Given the description of an element on the screen output the (x, y) to click on. 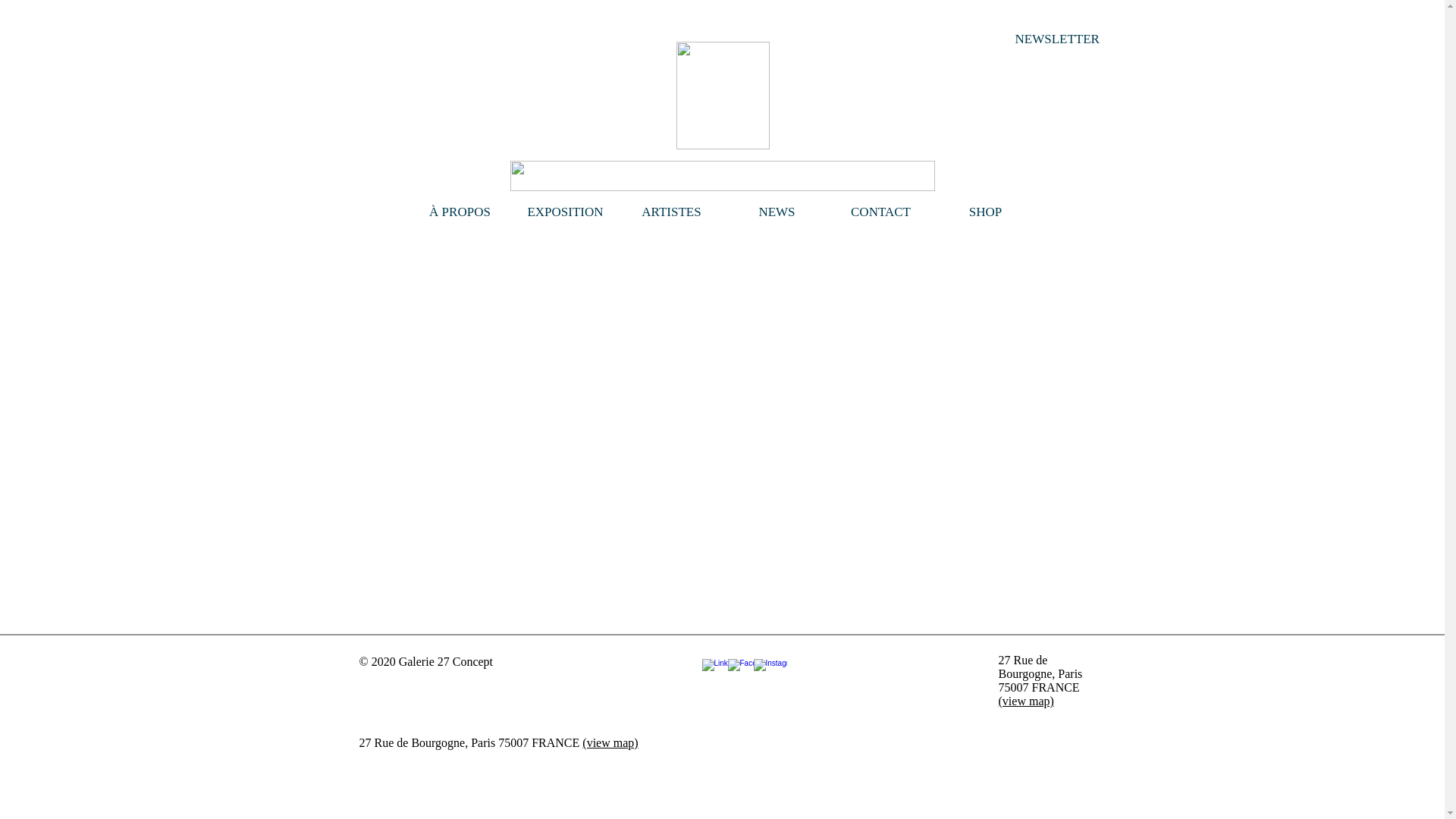
NEWS Element type: text (776, 212)
ARTISTES Element type: text (671, 212)
SHOP Element type: text (985, 212)
(view map) Element type: text (1025, 700)
CONTACT Element type: text (881, 212)
NEWSLETTER Element type: text (1056, 39)
(view map) Element type: text (609, 742)
EXPOSITION Element type: text (565, 212)
